Given the description of an element on the screen output the (x, y) to click on. 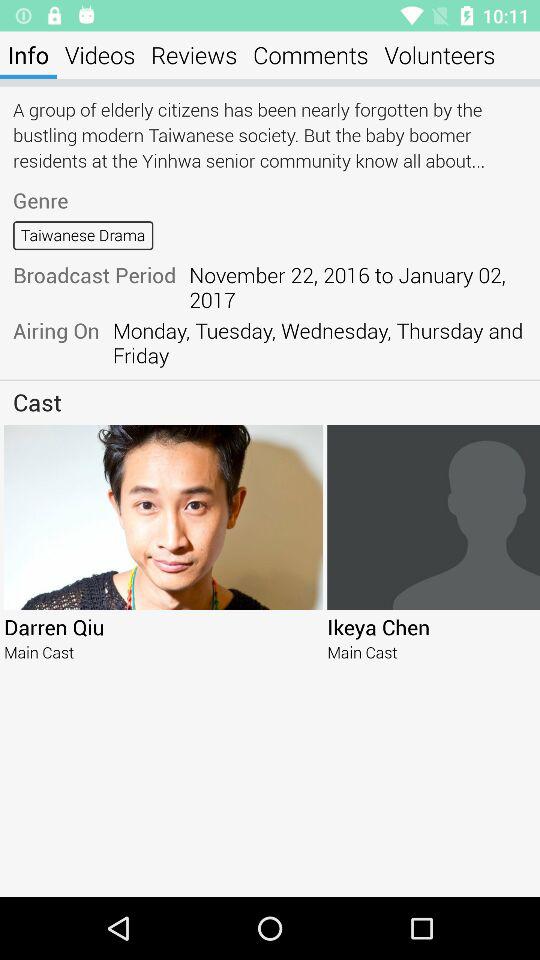
turn off icon next to the videos app (28, 54)
